Given the description of an element on the screen output the (x, y) to click on. 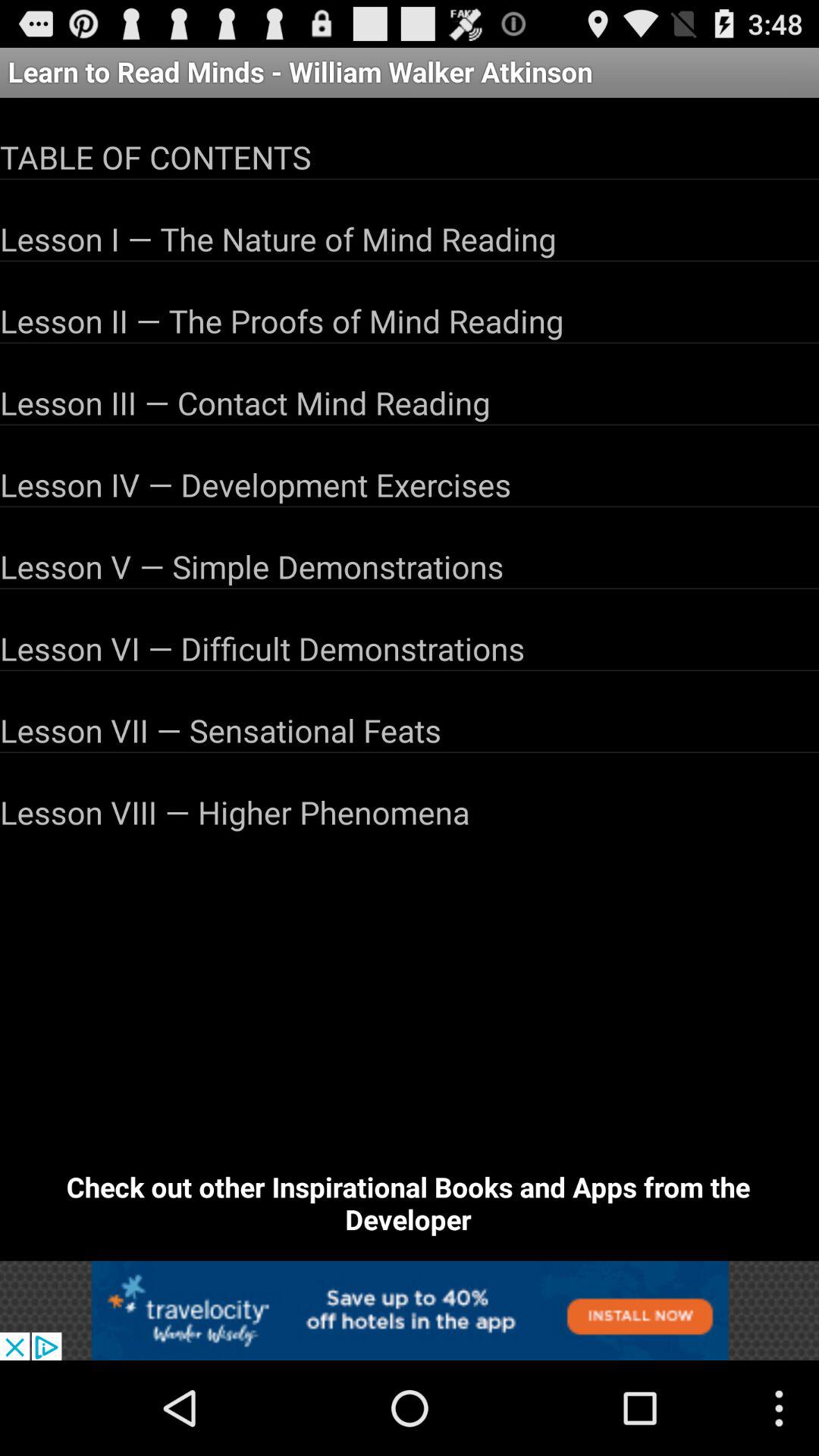
advertisement display (409, 1310)
